Given the description of an element on the screen output the (x, y) to click on. 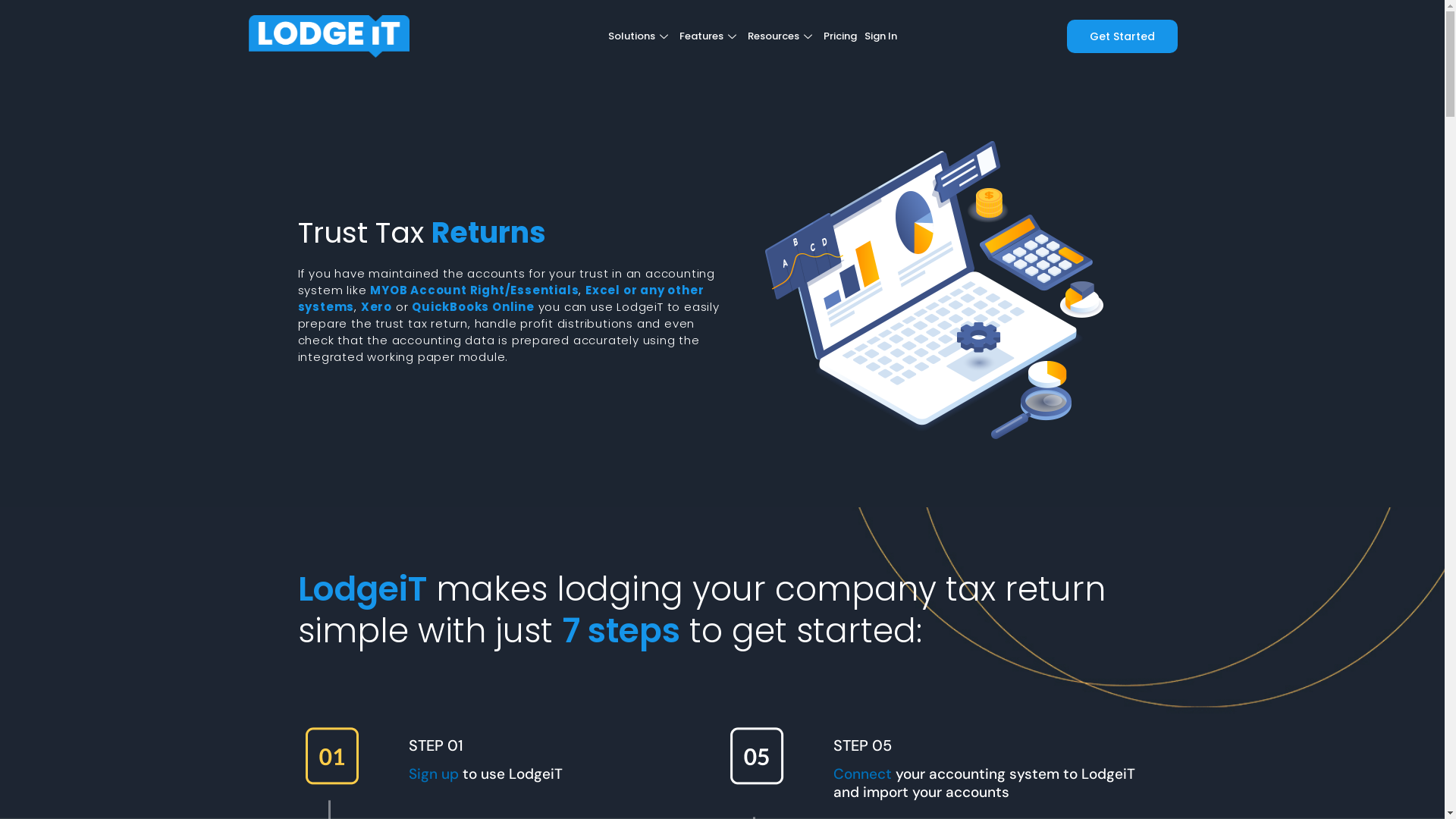
Pricing Element type: text (839, 36)
QuickBooks Online Element type: text (472, 306)
Solutions Element type: text (639, 36)
MYOB Account Right/Essentials Element type: text (474, 290)
Xero Element type: text (376, 306)
Get Started Element type: text (1121, 36)
Sign up Element type: text (433, 773)
Excel or any other systems Element type: text (500, 298)
Resources Element type: text (781, 36)
Sign In Element type: text (880, 36)
Features Element type: text (709, 36)
Connect  Element type: text (864, 773)
